Given the description of an element on the screen output the (x, y) to click on. 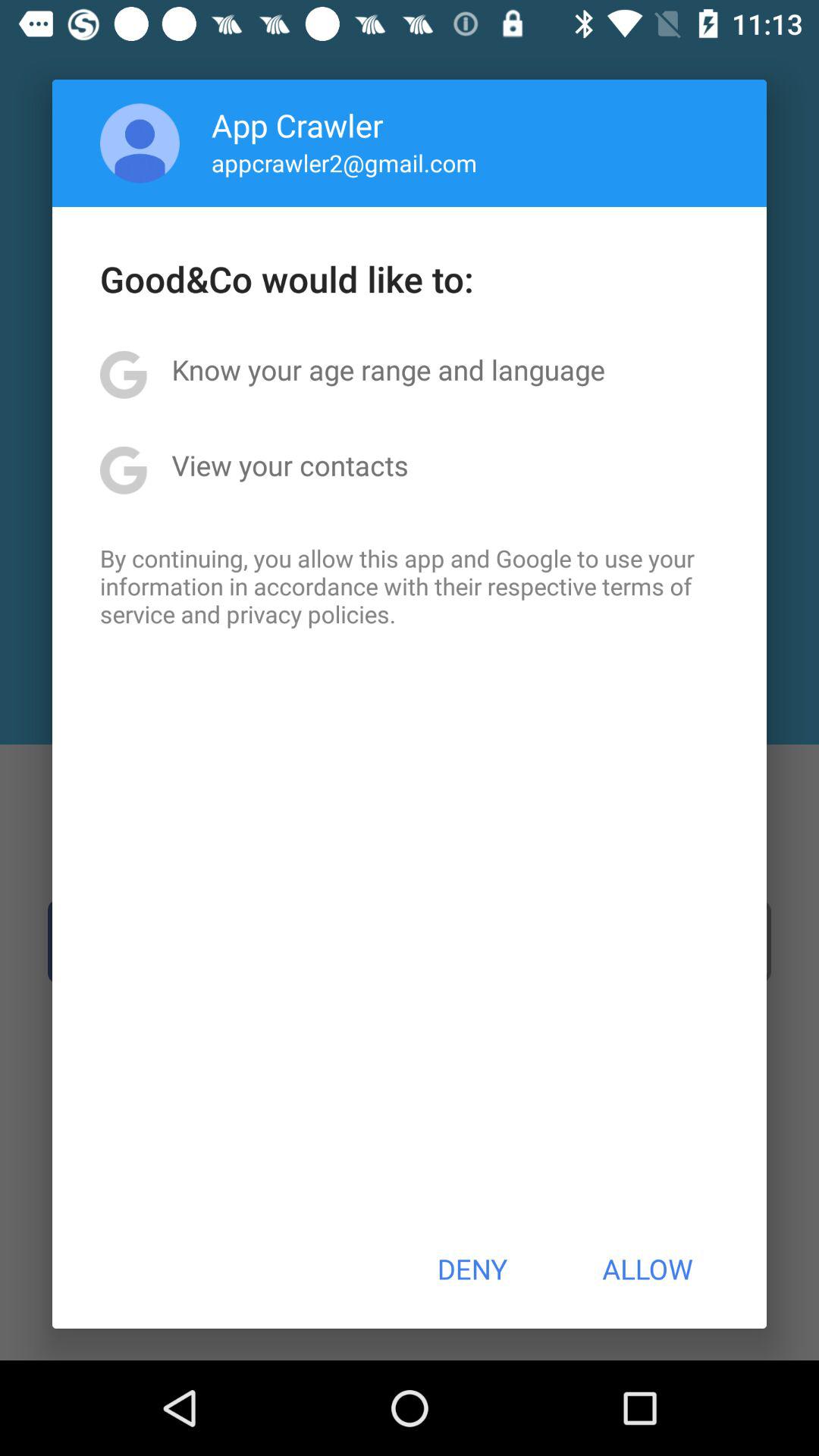
swipe until the view your contacts app (289, 465)
